Given the description of an element on the screen output the (x, y) to click on. 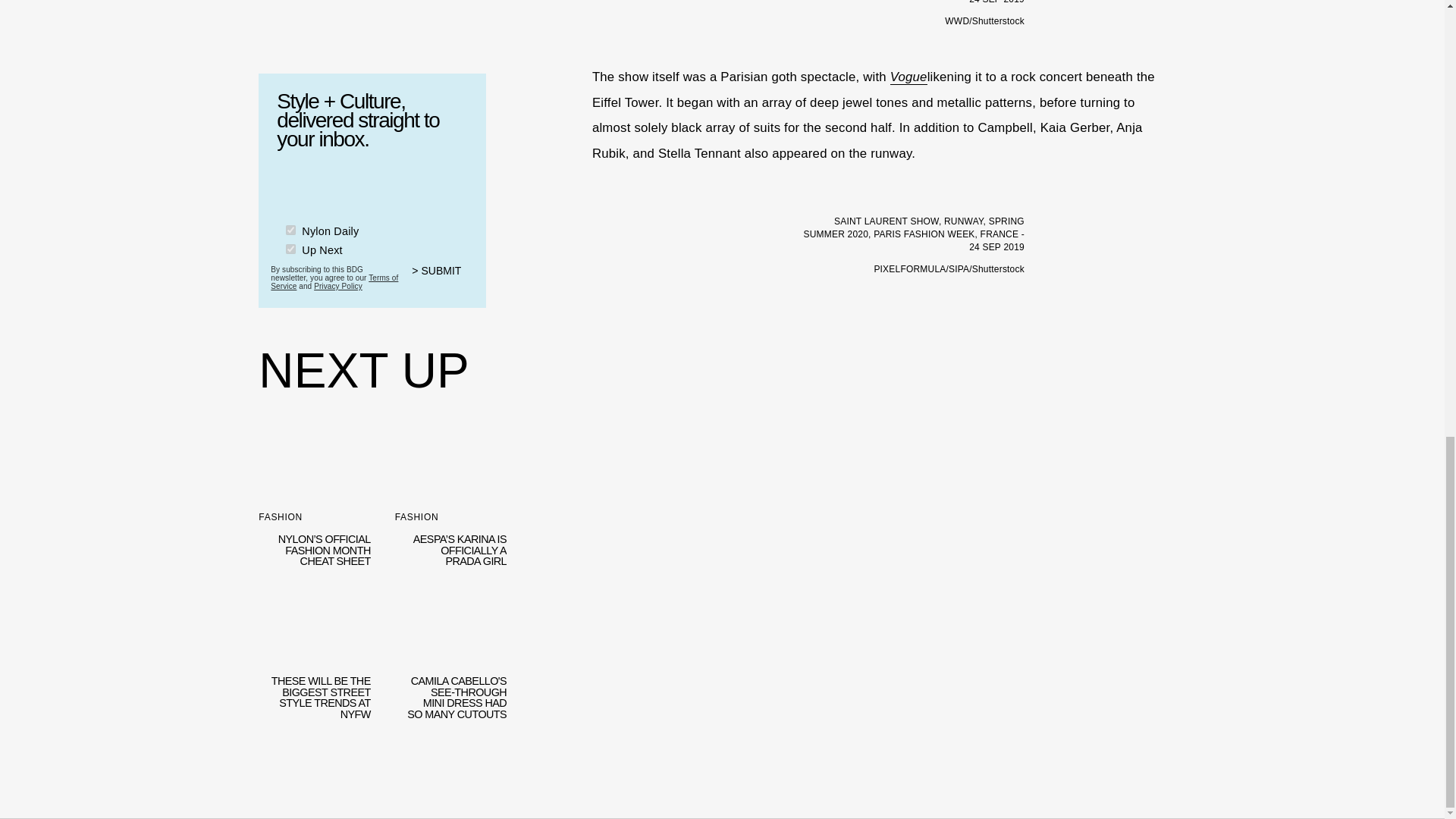
Privacy Policy (338, 283)
SUBMIT (443, 274)
Terms of Service (333, 278)
Vogue (908, 77)
